Given the description of an element on the screen output the (x, y) to click on. 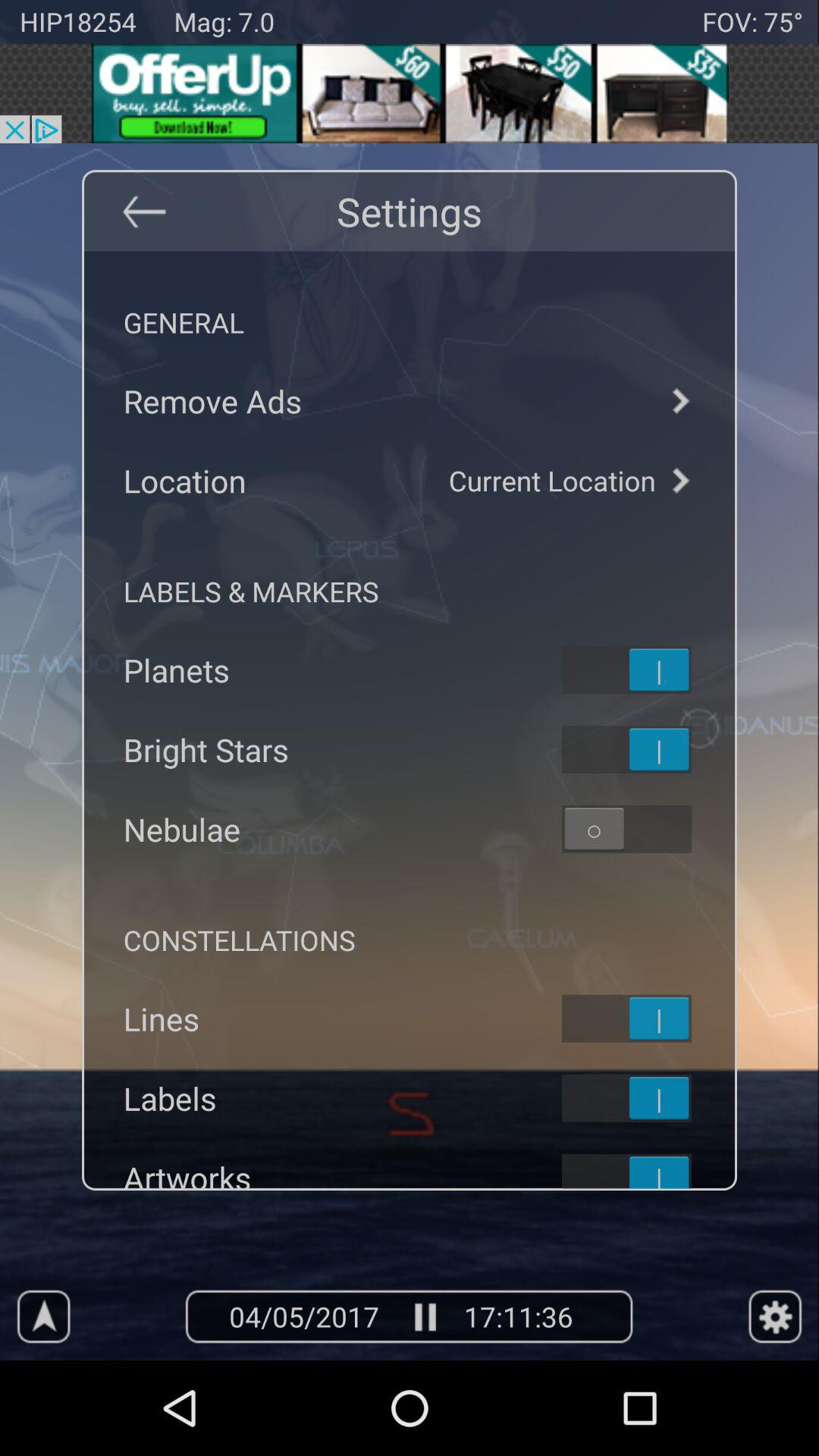
toggles bright stars on app (646, 749)
